Given the description of an element on the screen output the (x, y) to click on. 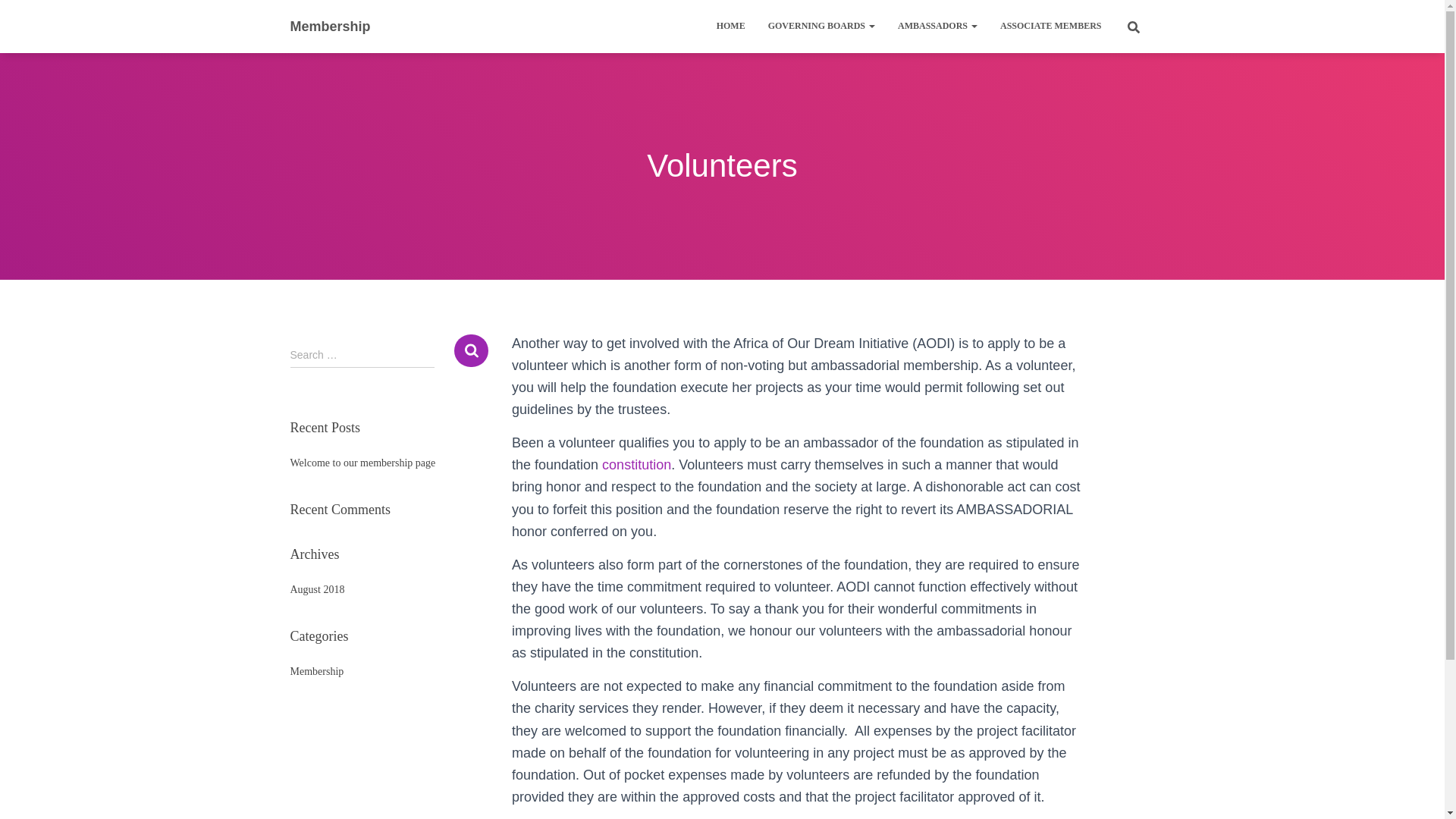
Home (730, 26)
Welcome to our membership page (362, 462)
AMBASSADORS (937, 26)
Search (470, 350)
Search (470, 350)
ASSOCIATE MEMBERS (1050, 26)
Associate Members (1050, 26)
Ambassadors (937, 26)
Membership (330, 26)
constitution (636, 464)
